Given the description of an element on the screen output the (x, y) to click on. 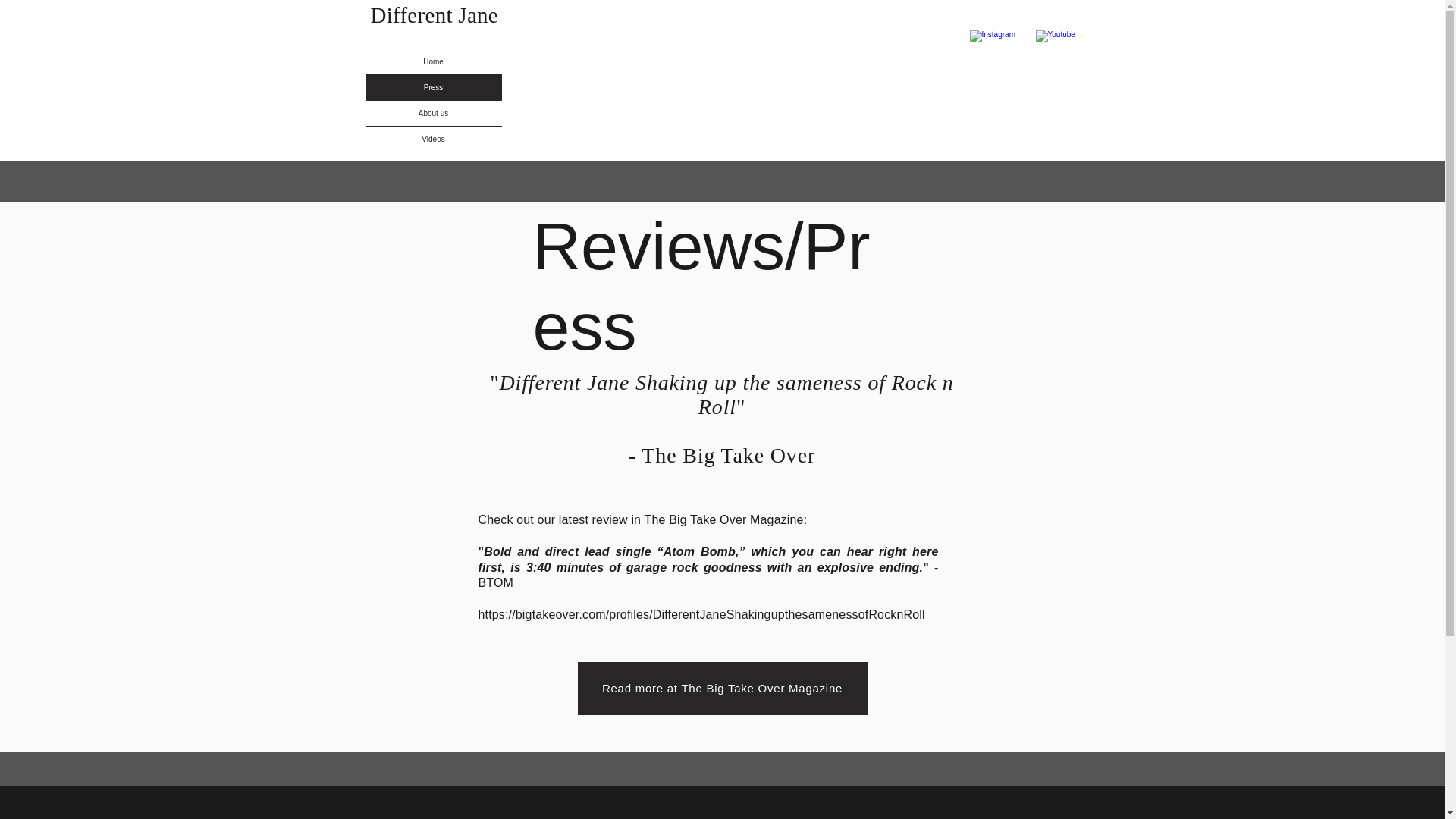
Press (433, 87)
Home (433, 61)
Videos (433, 138)
About us (433, 113)
Read more at The Big Take Over Magazine (722, 687)
